Given the description of an element on the screen output the (x, y) to click on. 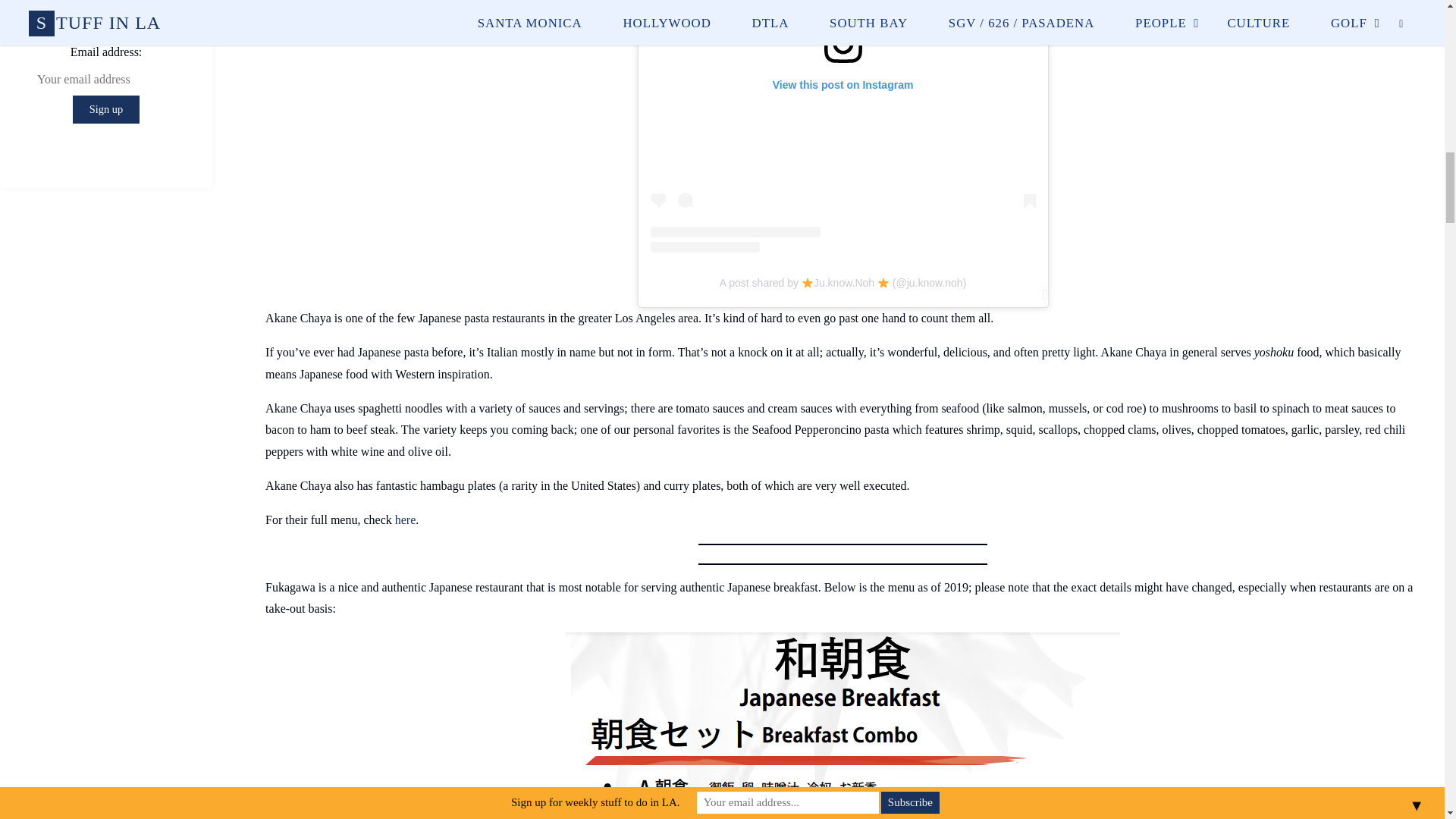
Sign up (105, 109)
